Given the description of an element on the screen output the (x, y) to click on. 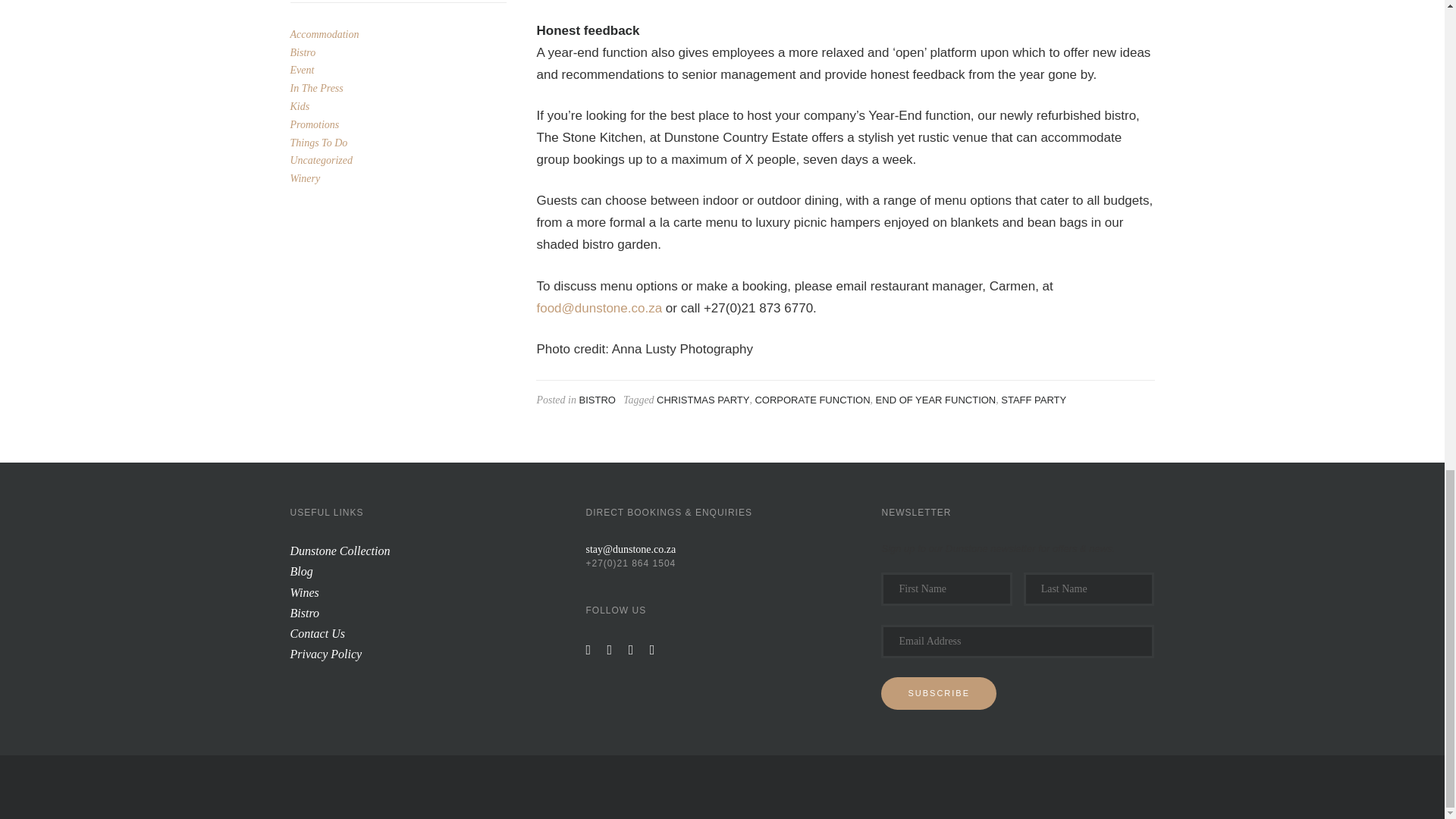
END OF YEAR FUNCTION (935, 399)
CORPORATE FUNCTION (811, 399)
CHRISTMAS PARTY (702, 399)
Subscribe (937, 693)
STAFF PARTY (1033, 399)
BISTRO (596, 399)
